Given the description of an element on the screen output the (x, y) to click on. 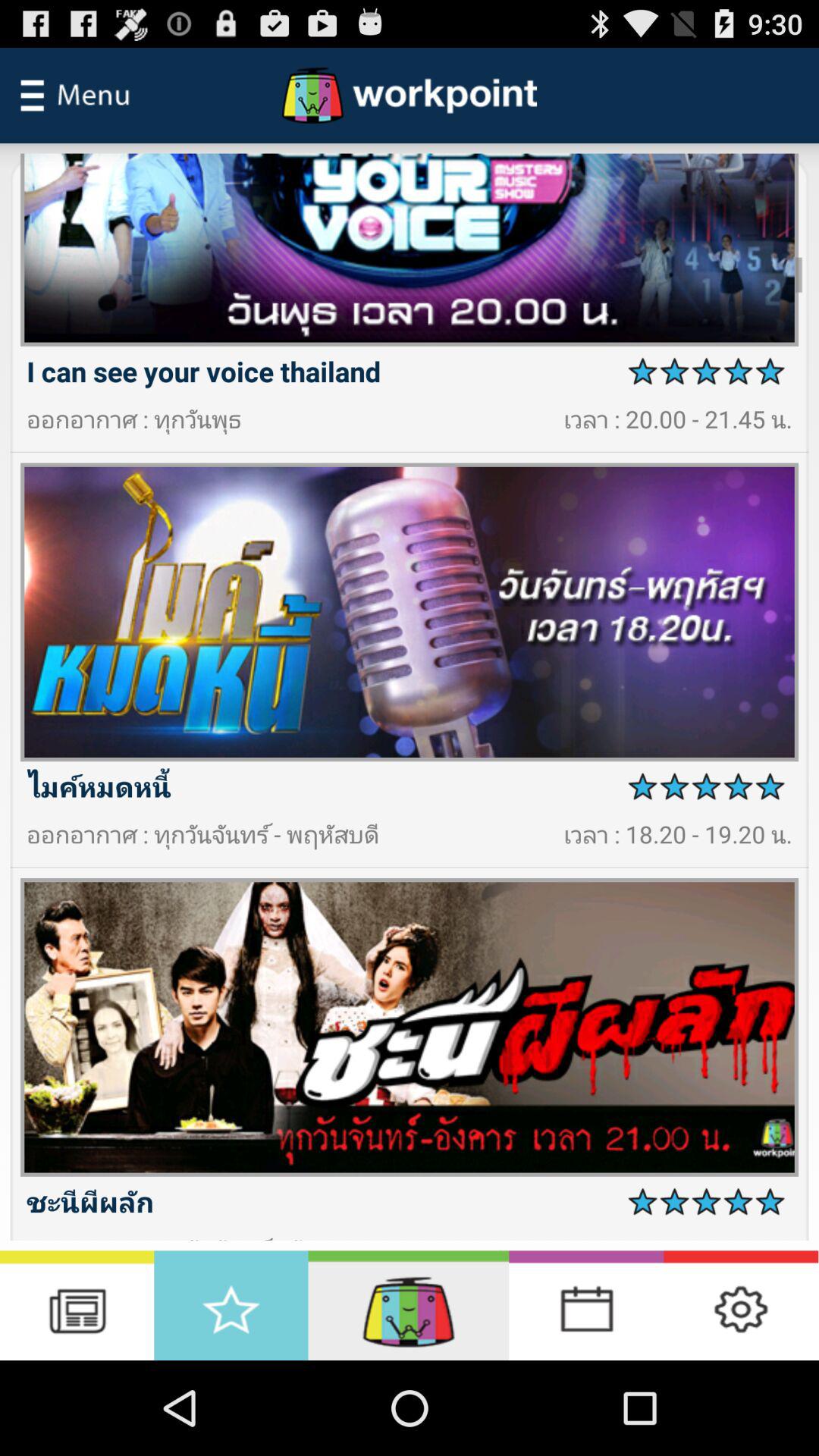
main menu (75, 95)
